Given the description of an element on the screen output the (x, y) to click on. 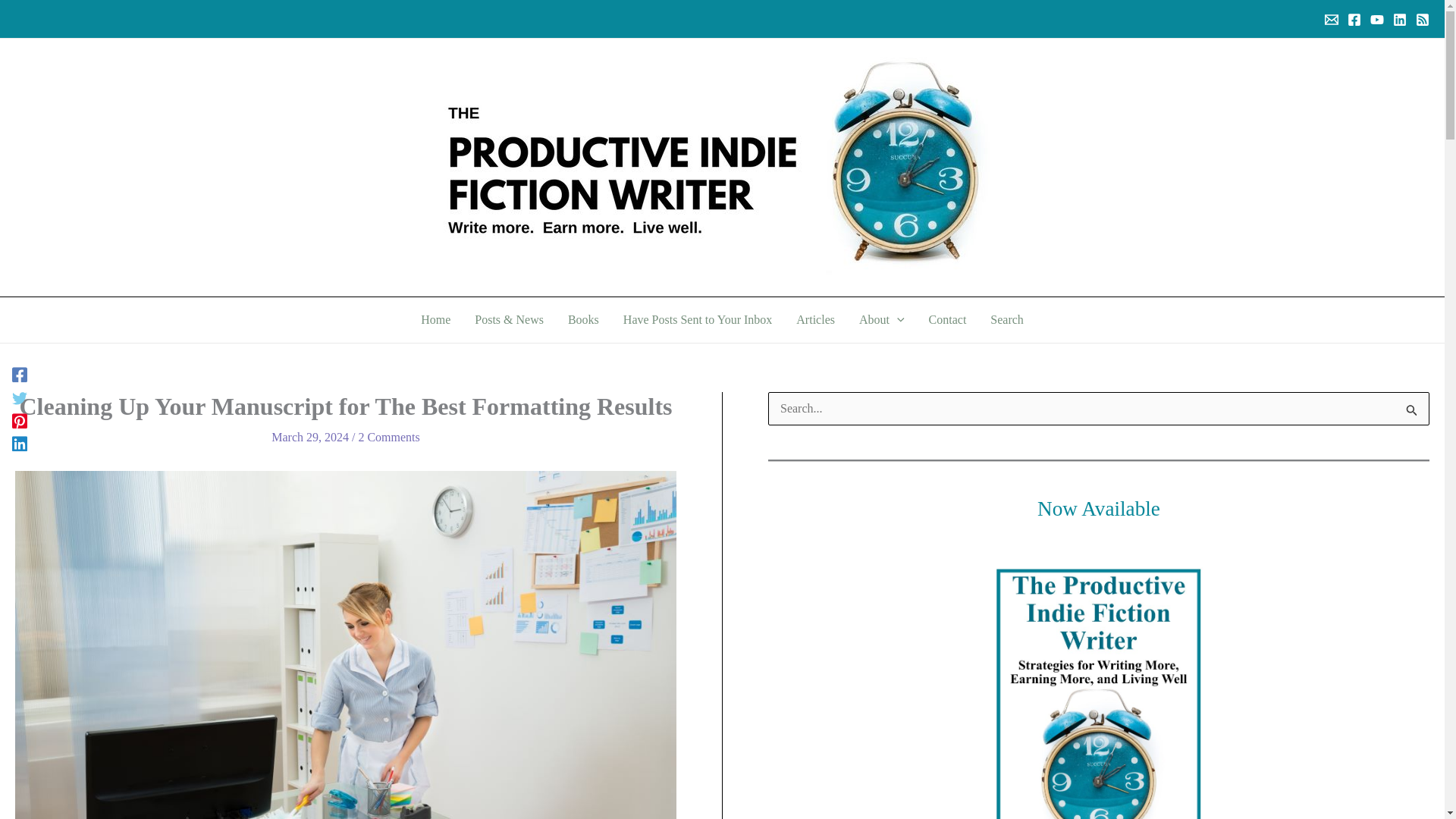
Have Posts Sent to Your Inbox (697, 320)
Contact (947, 320)
Home (436, 320)
Articles (815, 320)
Search (1006, 320)
Books (583, 320)
About (882, 320)
